Given the description of an element on the screen output the (x, y) to click on. 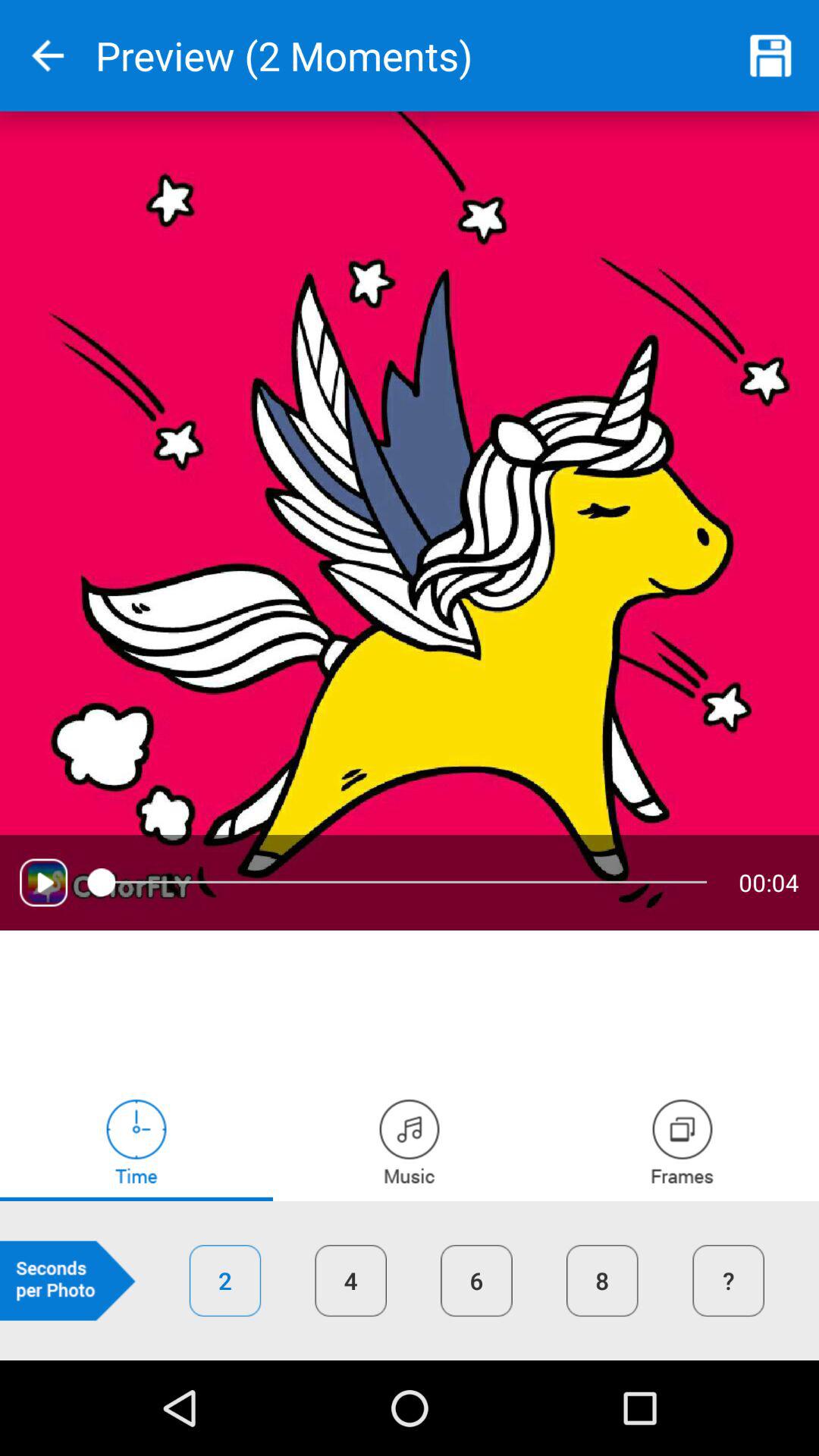
frames time (682, 1141)
